Given the description of an element on the screen output the (x, y) to click on. 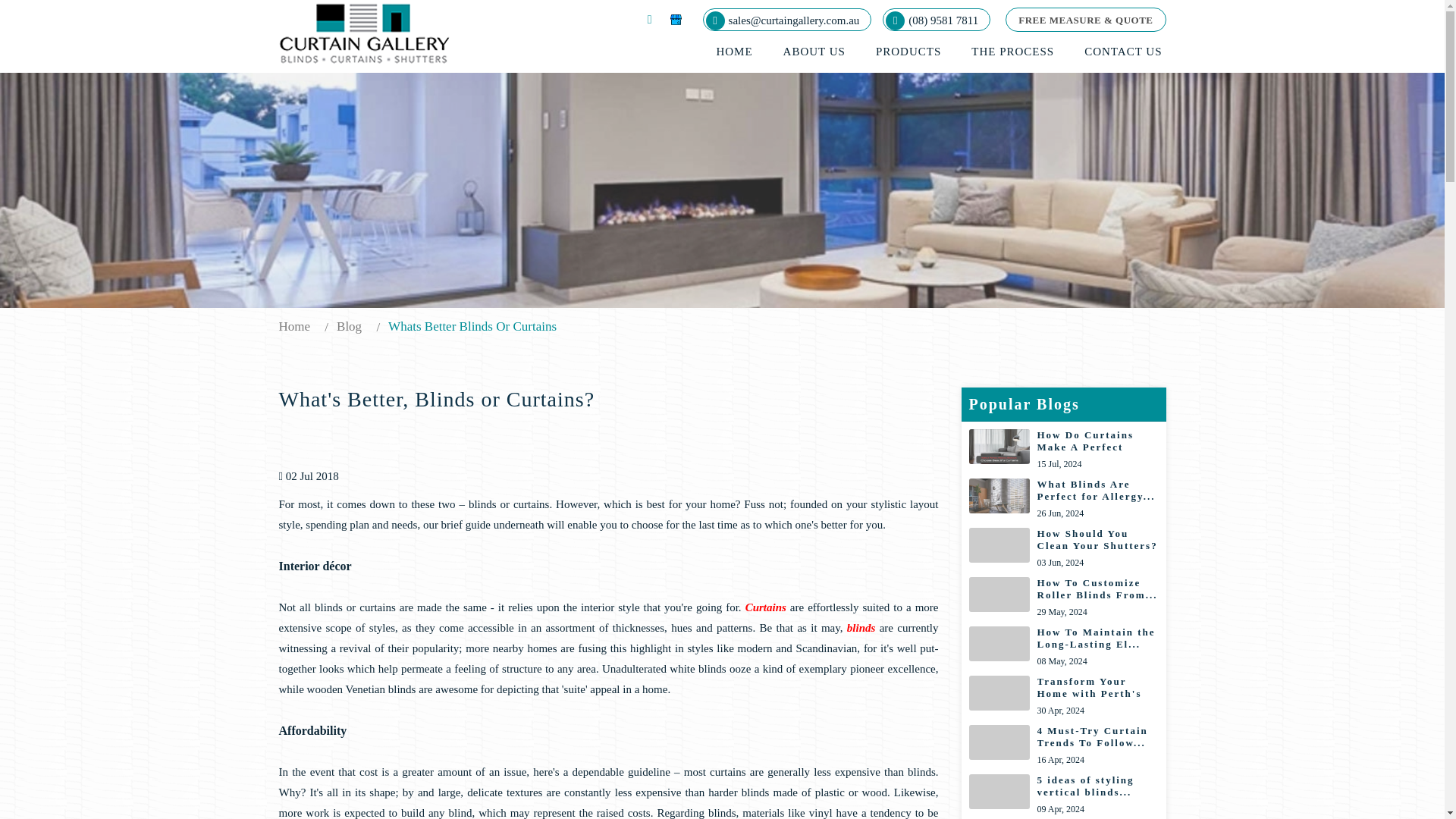
Blog (1063, 598)
CONTACT US (348, 326)
blinds (1063, 745)
ABOUT US (1063, 449)
Blinds (1063, 794)
THE PROCESS (1063, 499)
How Should You Clean Your Shutters? (1123, 51)
